Given the description of an element on the screen output the (x, y) to click on. 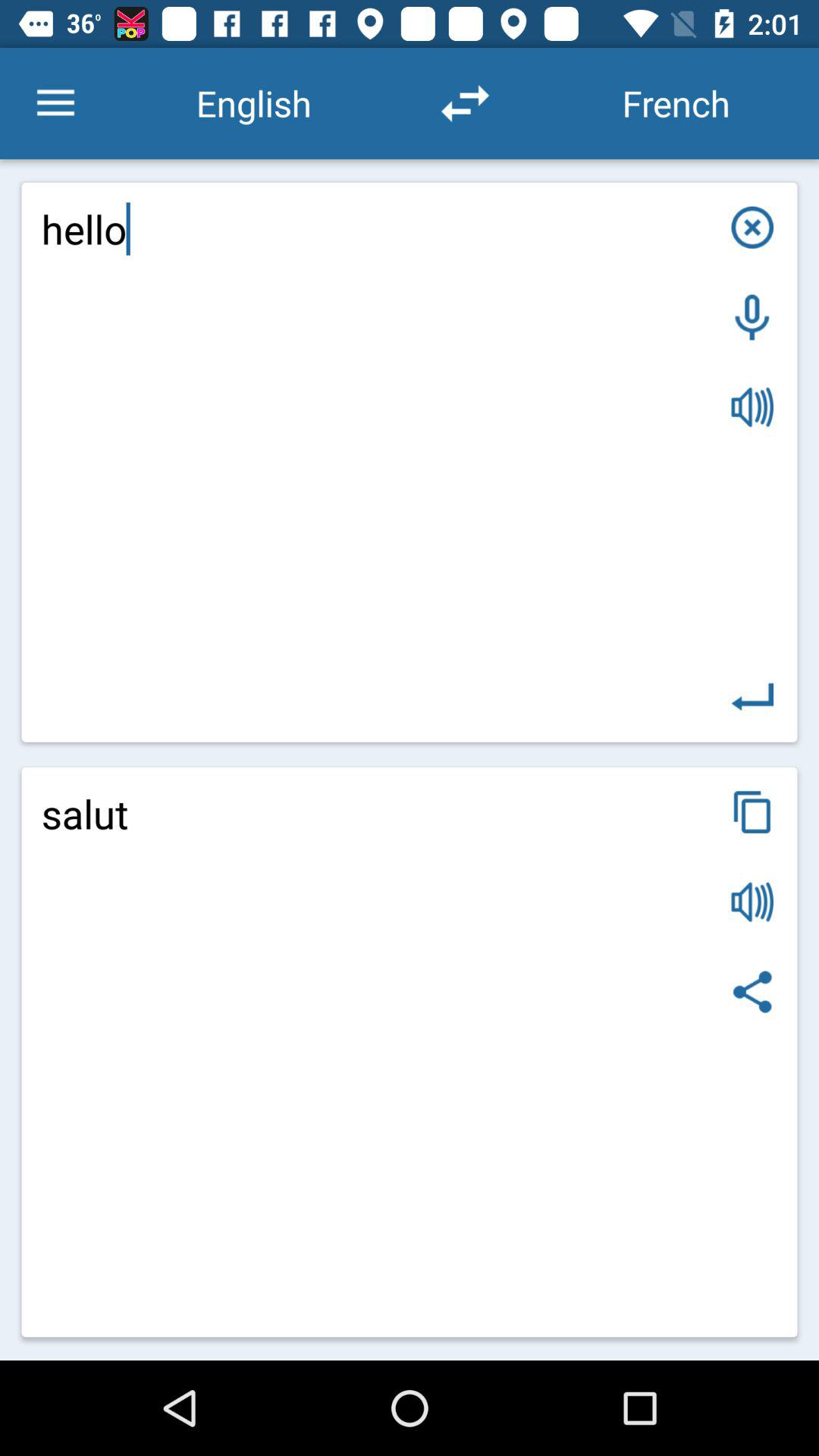
press hello item (409, 462)
